Given the description of an element on the screen output the (x, y) to click on. 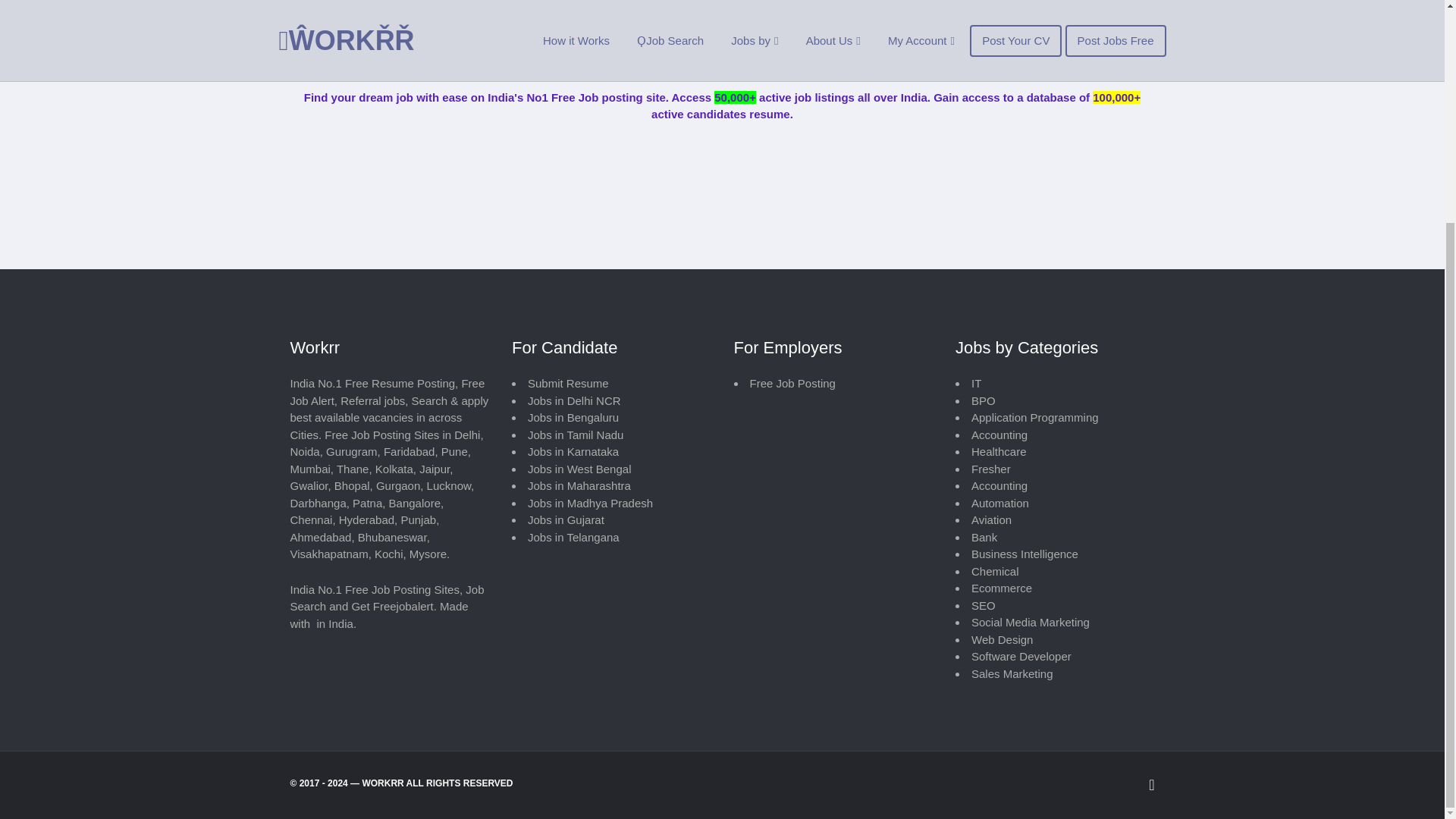
Accounting (999, 434)
Jobs in Gujarat (565, 519)
Accounting (999, 485)
Healthcare (998, 451)
Submit Resume (567, 382)
Jobs in West Bengal (578, 468)
Application Programming (1035, 417)
